Given the description of an element on the screen output the (x, y) to click on. 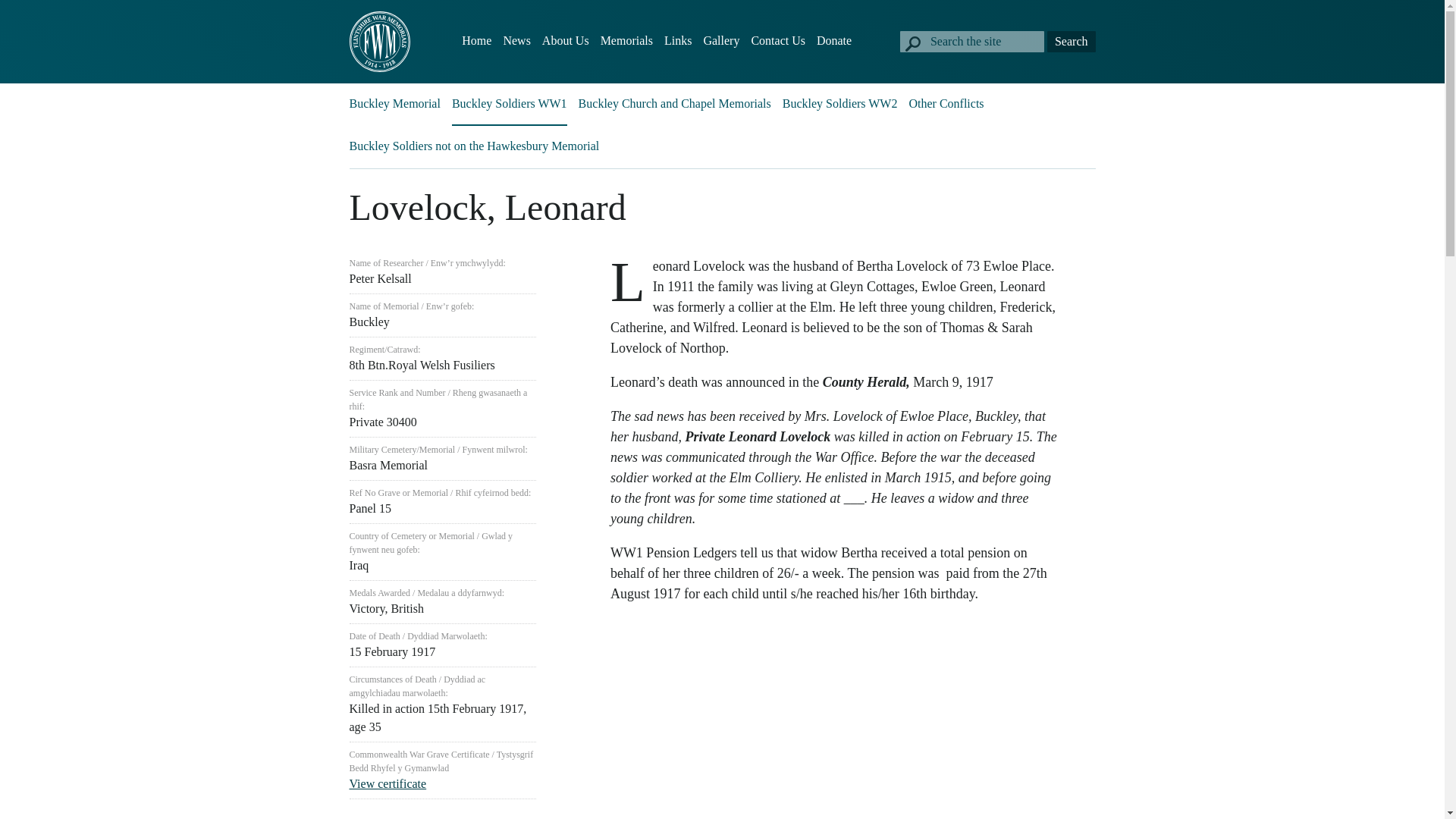
Buckley Soldiers WW2 (840, 103)
News (515, 41)
Search (1071, 41)
Buckley Church and Chapel Memorials (674, 103)
Links (677, 41)
Gallery (721, 41)
Buckley Soldiers not on the Hawkesbury Memorial (473, 145)
About Us (565, 41)
Donate (833, 41)
View certificate (387, 783)
Buckley Soldiers WW1 (509, 103)
Memorials (625, 41)
Buckley Memorial (394, 103)
Other Conflicts (946, 103)
Contact Us (778, 41)
